Given the description of an element on the screen output the (x, y) to click on. 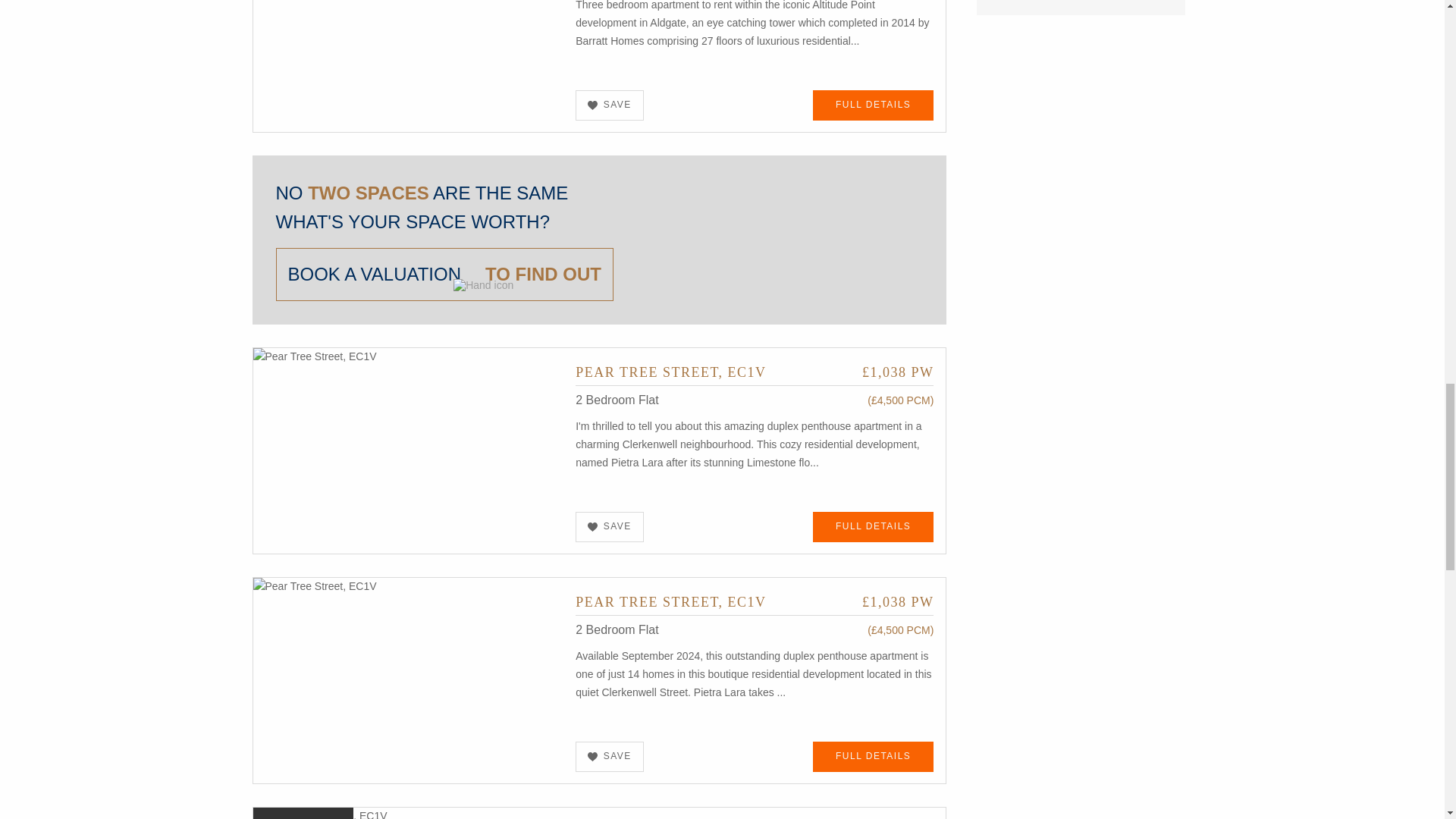
SAVE (609, 104)
View property details (408, 449)
View property details (873, 105)
View property details (754, 371)
HEART CREATED USING FIGMA (592, 756)
View property details (408, 28)
HEART CREATED USING FIGMA (592, 104)
HEART CREATED USING FIGMA (592, 526)
